Given the description of an element on the screen output the (x, y) to click on. 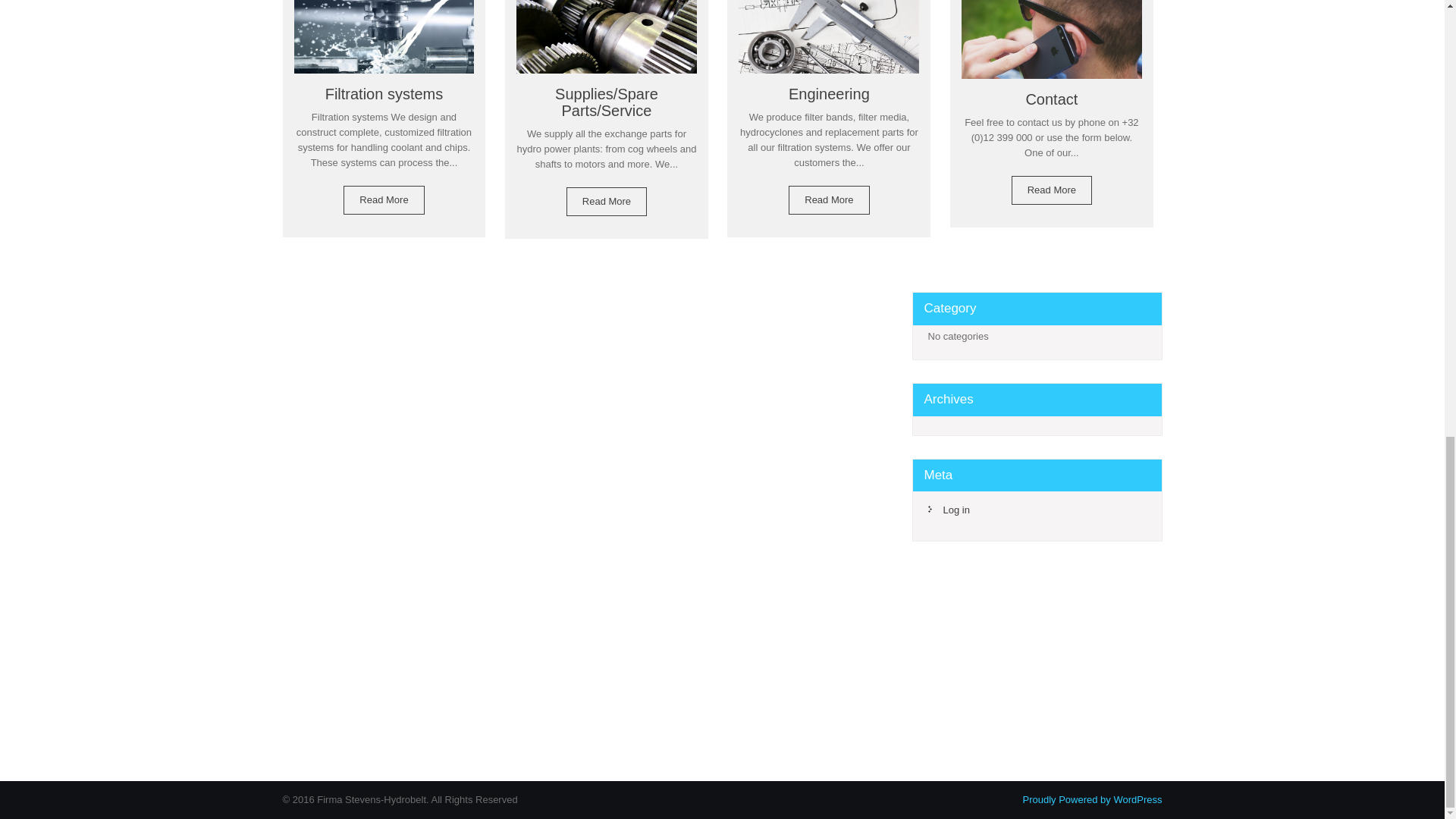
Read More (383, 199)
Filtration systems (384, 51)
